Given the description of an element on the screen output the (x, y) to click on. 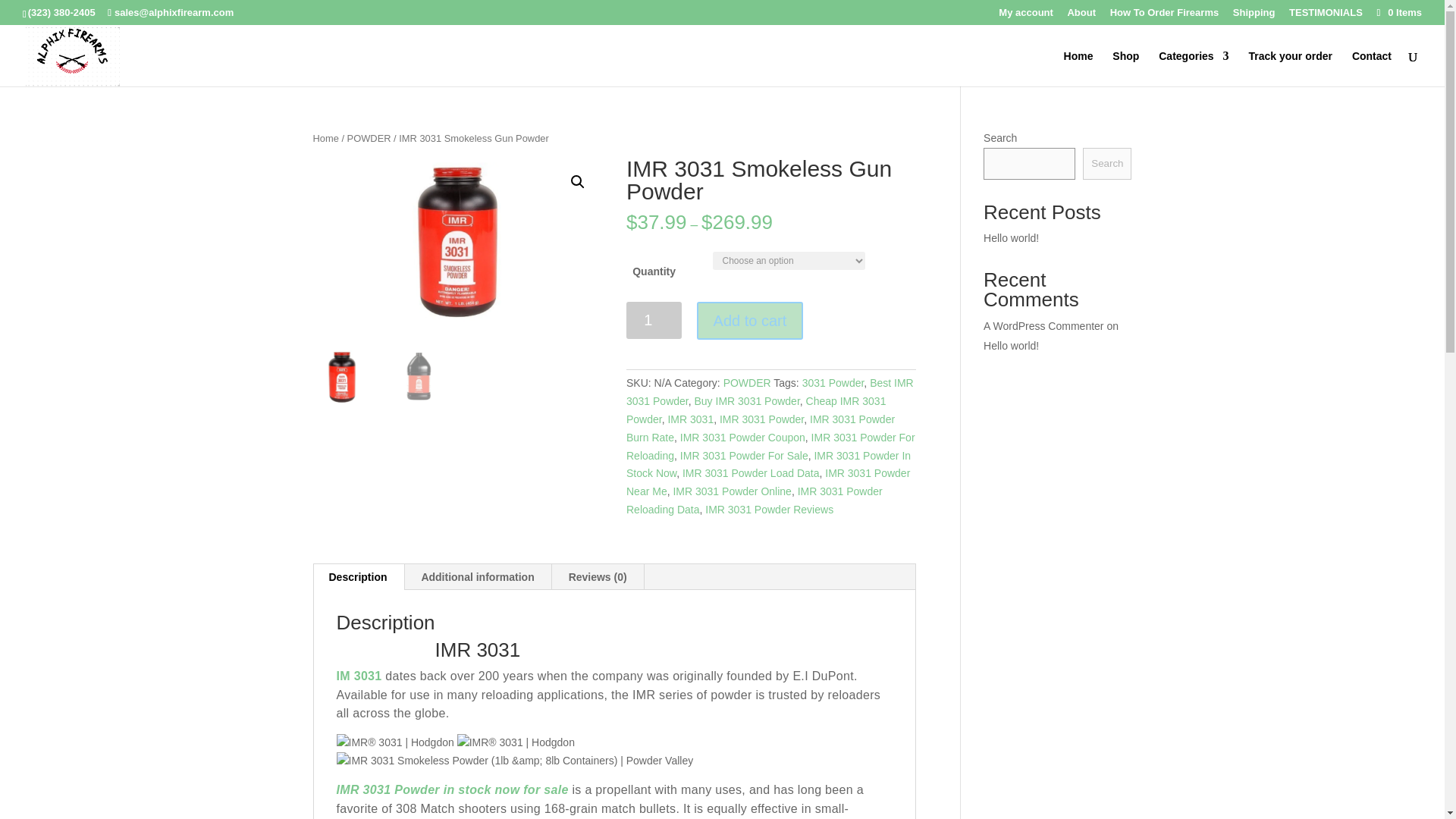
Contact (1371, 67)
Shipping (1254, 16)
Track your order (1289, 67)
1 (653, 320)
Categories (1193, 67)
My account (1025, 16)
0 Items (1398, 12)
IMR 3031 (457, 243)
About (1081, 16)
TESTIMONIALS (1325, 16)
How To Order Firearms (1164, 16)
